Given the description of an element on the screen output the (x, y) to click on. 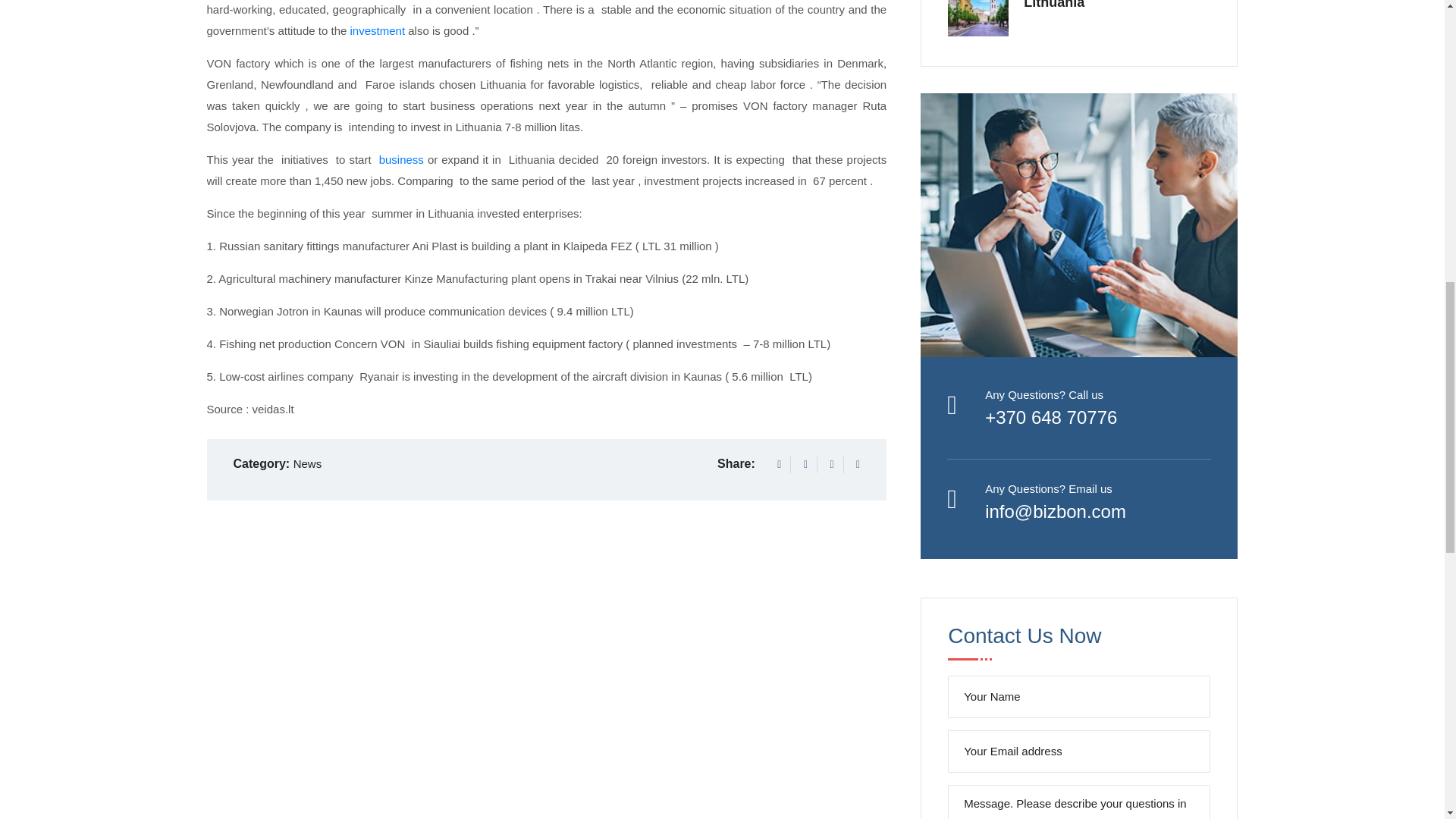
support-1 (1078, 225)
business (400, 159)
investment (378, 30)
